Given the description of an element on the screen output the (x, y) to click on. 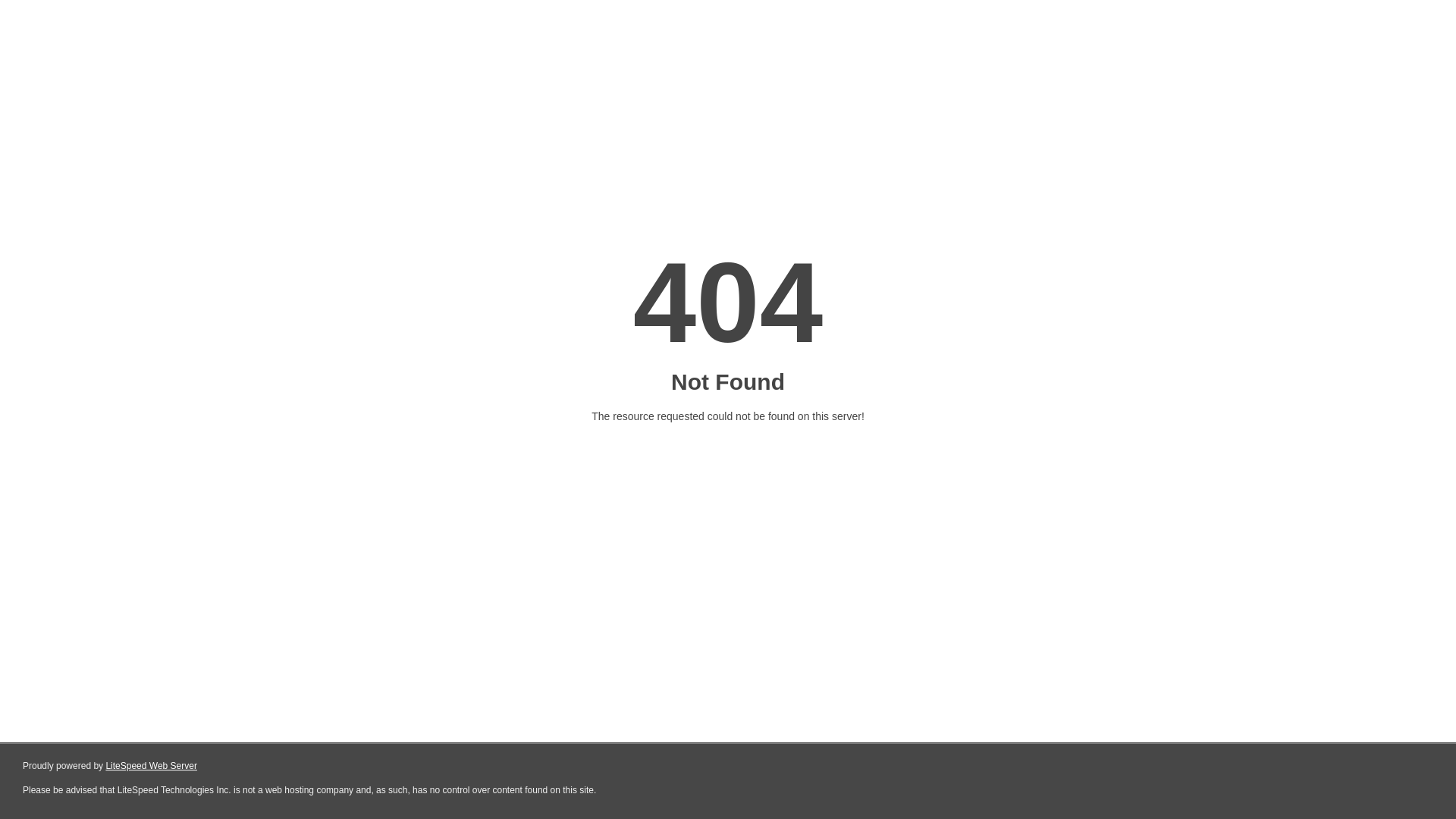
LiteSpeed Web Server Element type: text (151, 765)
